Given the description of an element on the screen output the (x, y) to click on. 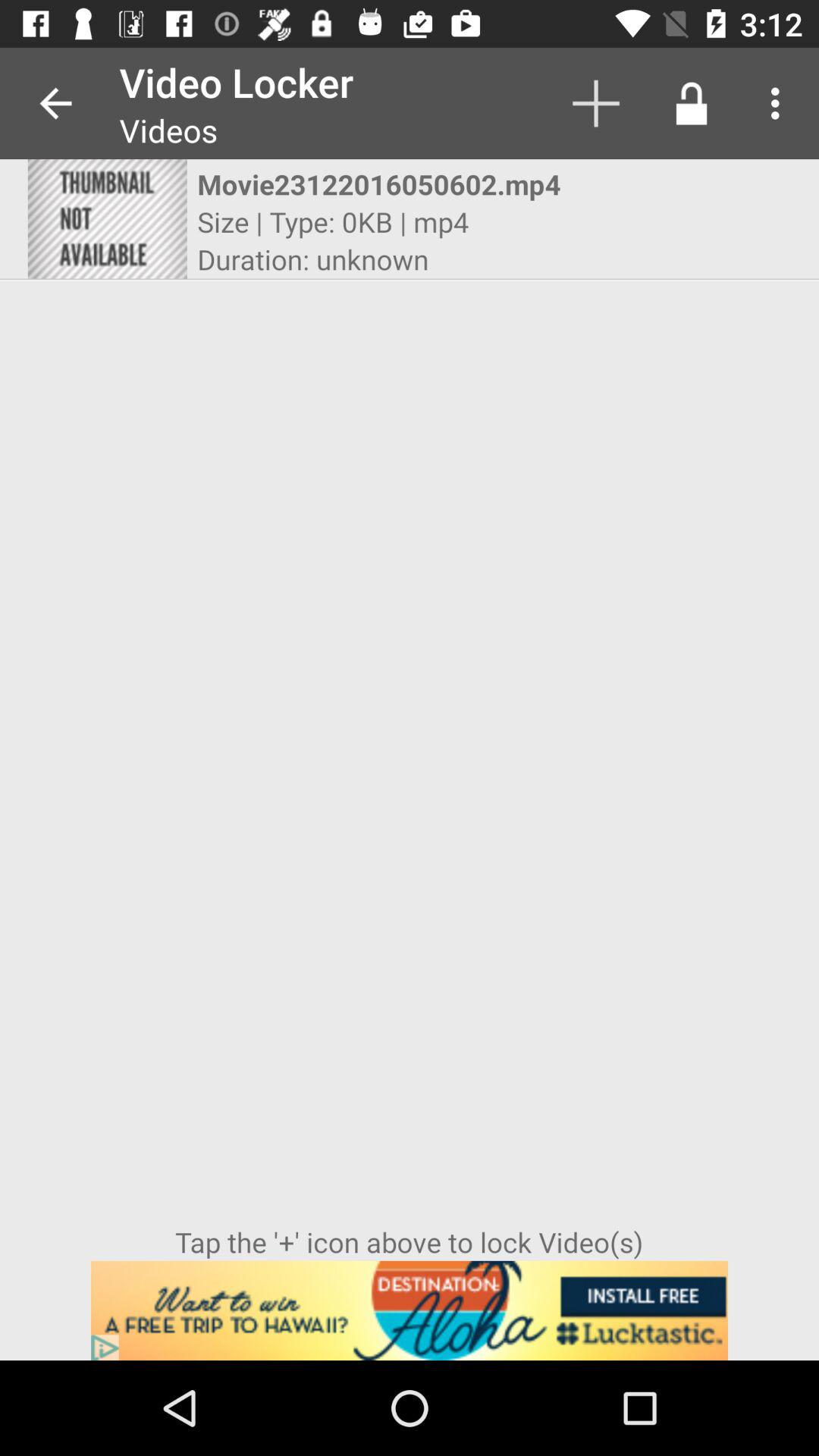
swipe to duration: unknown item (312, 259)
